Given the description of an element on the screen output the (x, y) to click on. 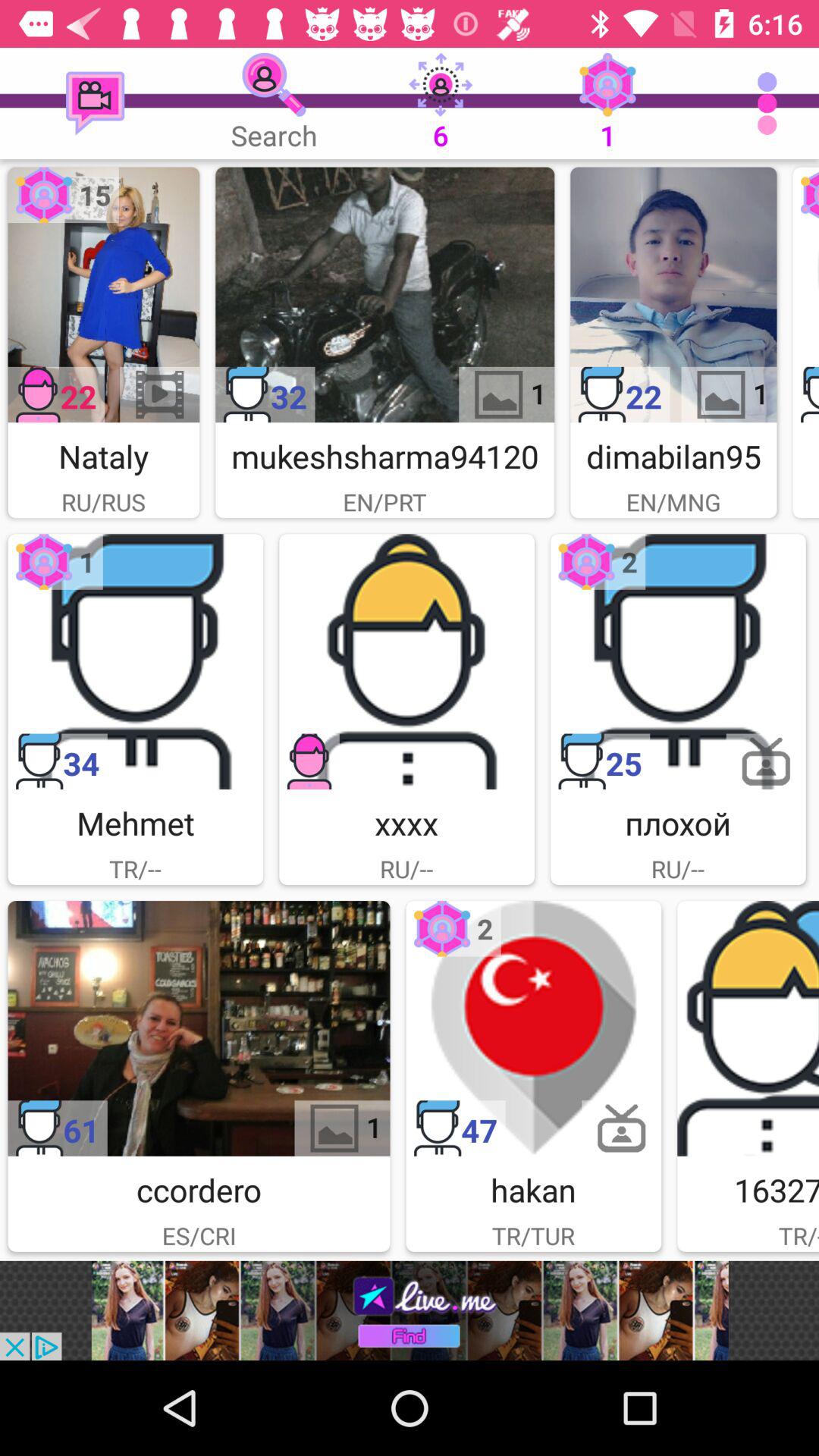
selects that picture (677, 661)
